Given the description of an element on the screen output the (x, y) to click on. 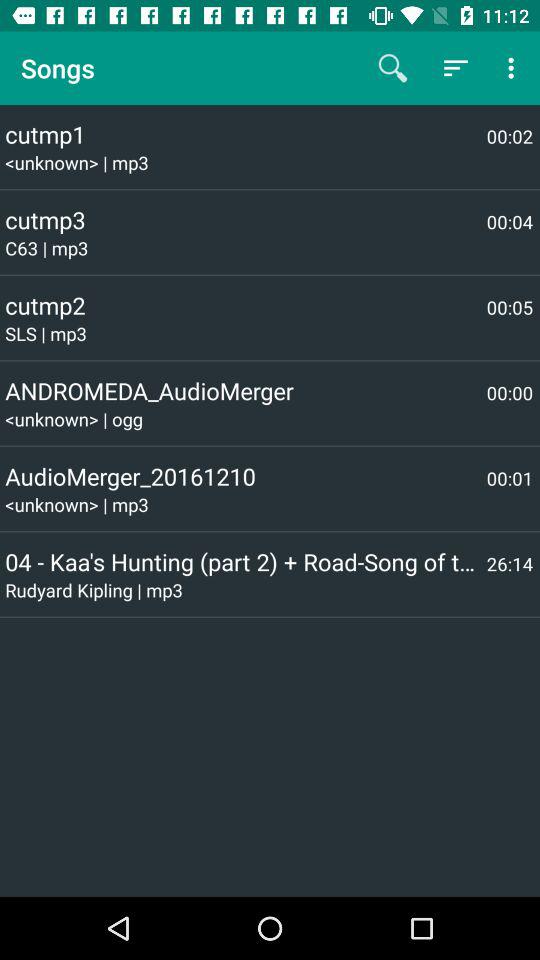
turn off item above the cutmp1 item (455, 67)
